Given the description of an element on the screen output the (x, y) to click on. 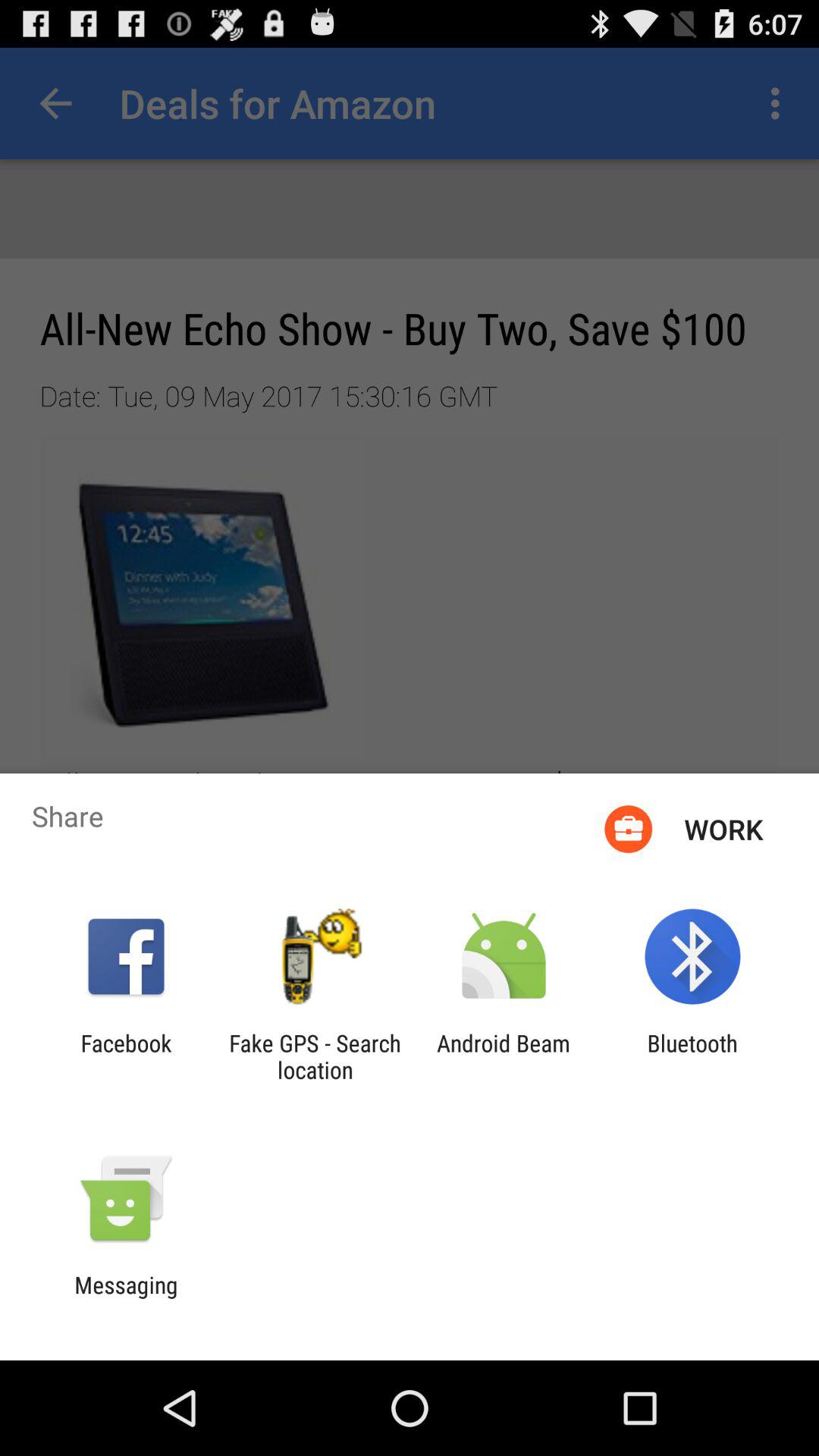
click bluetooth item (692, 1056)
